Given the description of an element on the screen output the (x, y) to click on. 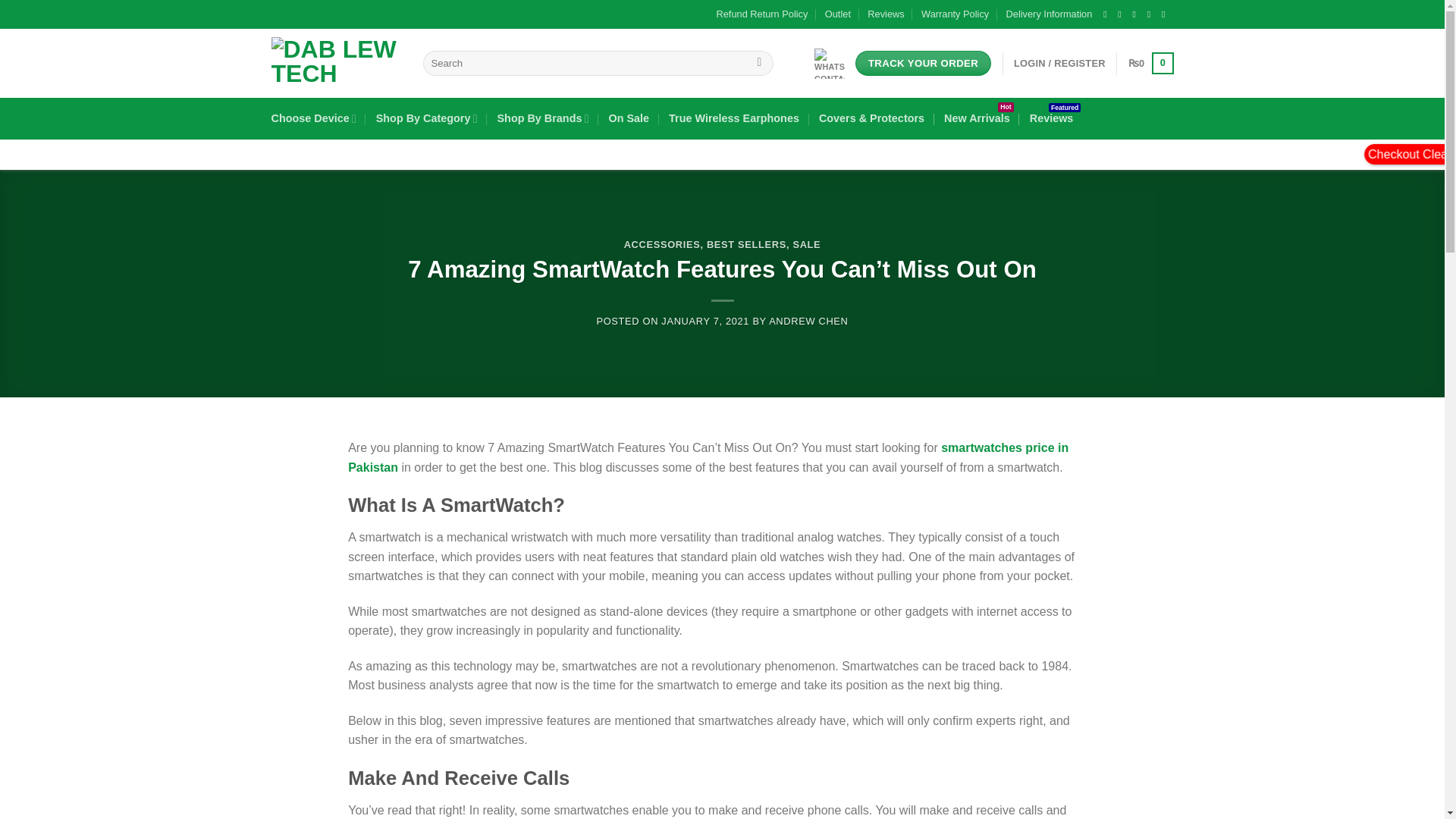
Choose Device (313, 118)
Refund Return Policy (762, 14)
Delivery Information (1049, 14)
Warranty Policy (954, 14)
Cart (1150, 63)
Search (758, 63)
TRACK YOUR ORDER (923, 63)
Reviews (885, 14)
Outlet (837, 14)
